Given the description of an element on the screen output the (x, y) to click on. 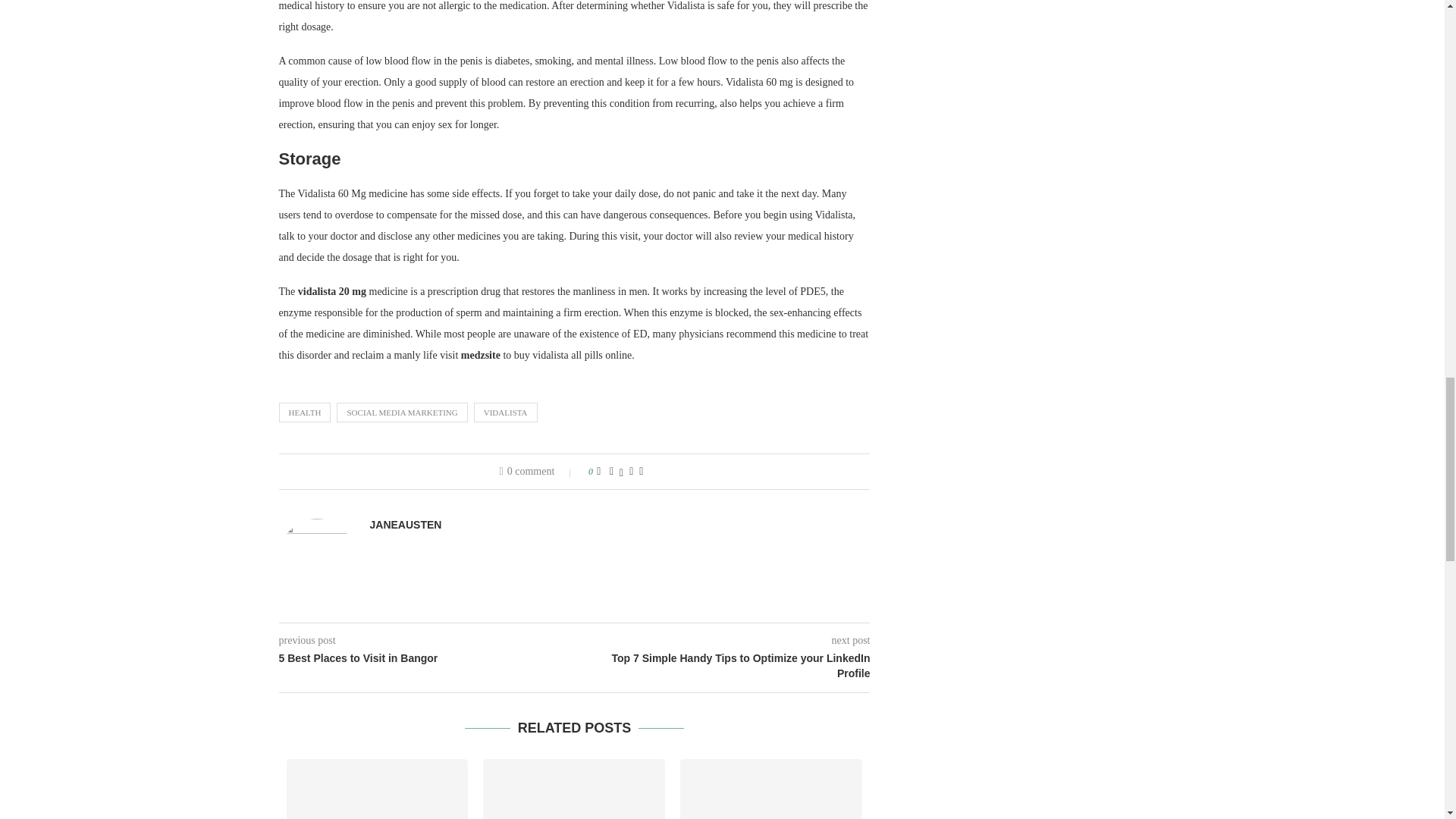
SOCIAL MEDIA MARKETING (401, 412)
How to Make Cannabis-Infused Olive Oil (377, 789)
What Are The Best Elf Bar Flavours (770, 789)
Top 7 Simple Handy Tips to Optimize your LinkedIn Profile (722, 665)
HEALTH (305, 412)
5 Best Places to Visit in Bangor (427, 658)
VIDALISTA (505, 412)
Author janeausten (405, 524)
JANEAUSTEN (405, 524)
